Given the description of an element on the screen output the (x, y) to click on. 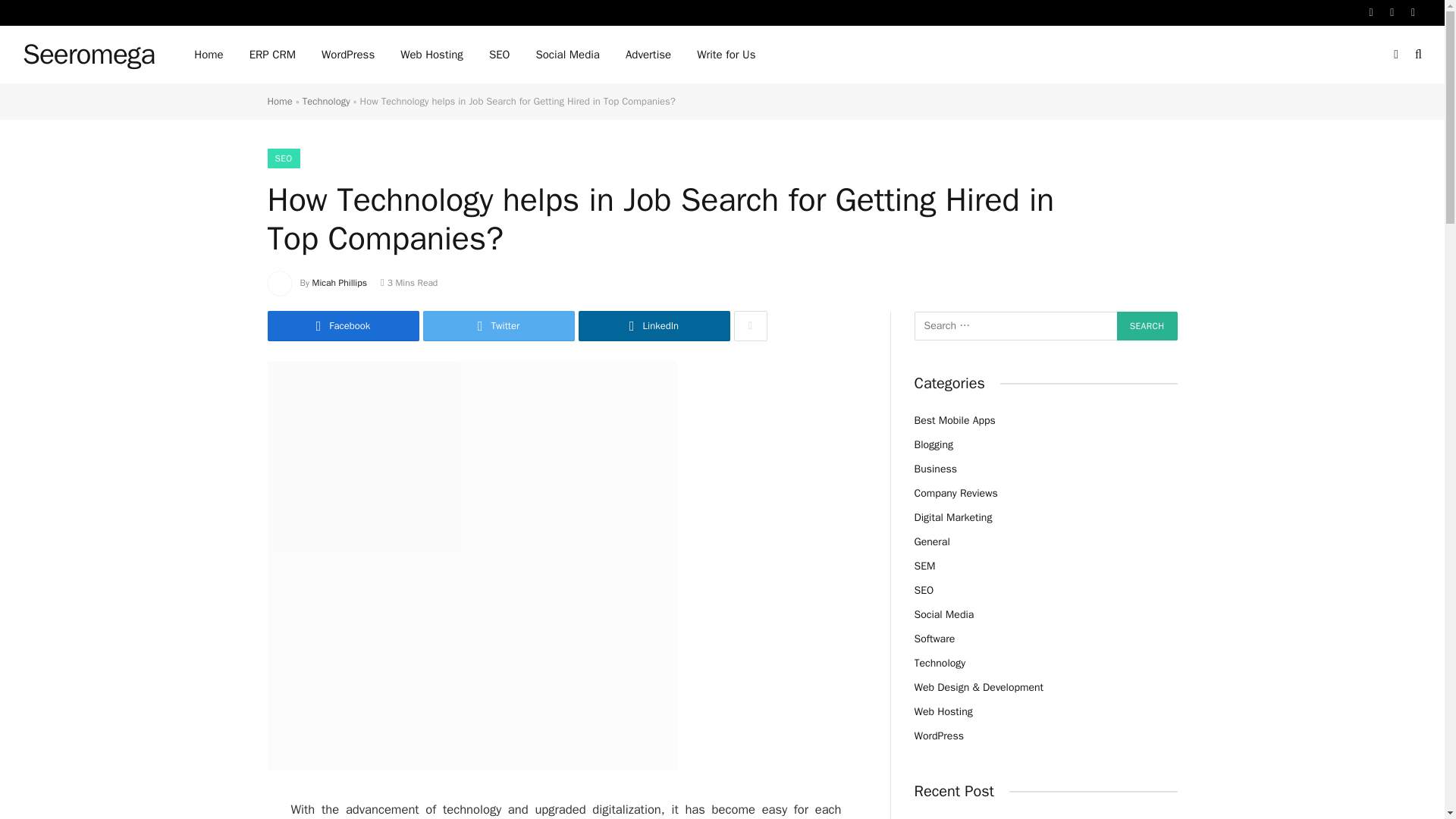
Search (1146, 326)
ERP CRM (271, 54)
Write for Us (726, 54)
SEO (282, 158)
Technology (326, 101)
Twitter (499, 326)
Social Media (566, 54)
Micah Phillips (339, 282)
Seeromega (88, 54)
Switch to Dark Design - easier on eyes. (1396, 54)
WordPress (347, 54)
Home (279, 101)
Share on LinkedIn (653, 326)
Web Hosting (431, 54)
LinkedIn (653, 326)
